Given the description of an element on the screen output the (x, y) to click on. 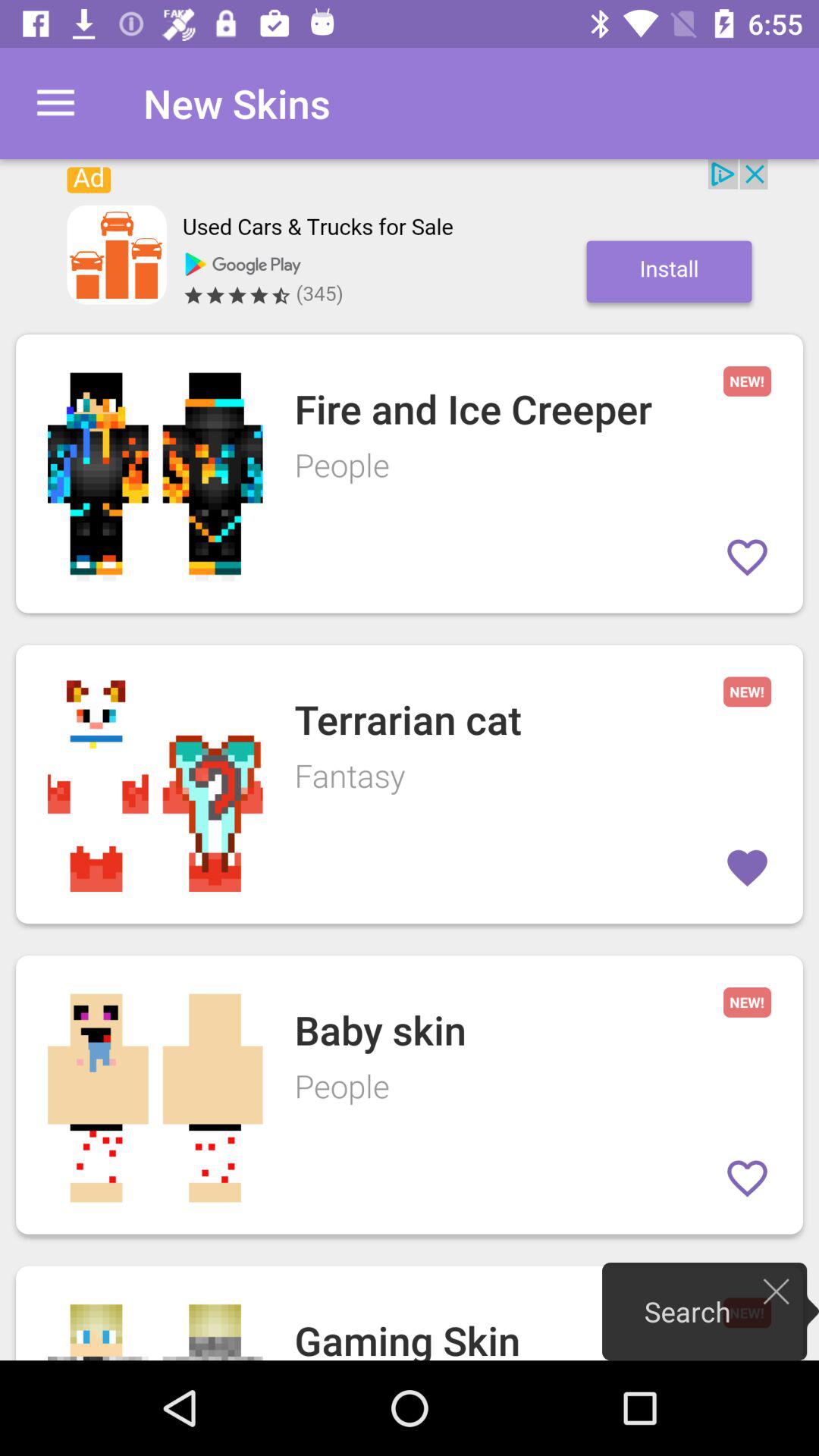
make favorite skin (747, 1178)
